Given the description of an element on the screen output the (x, y) to click on. 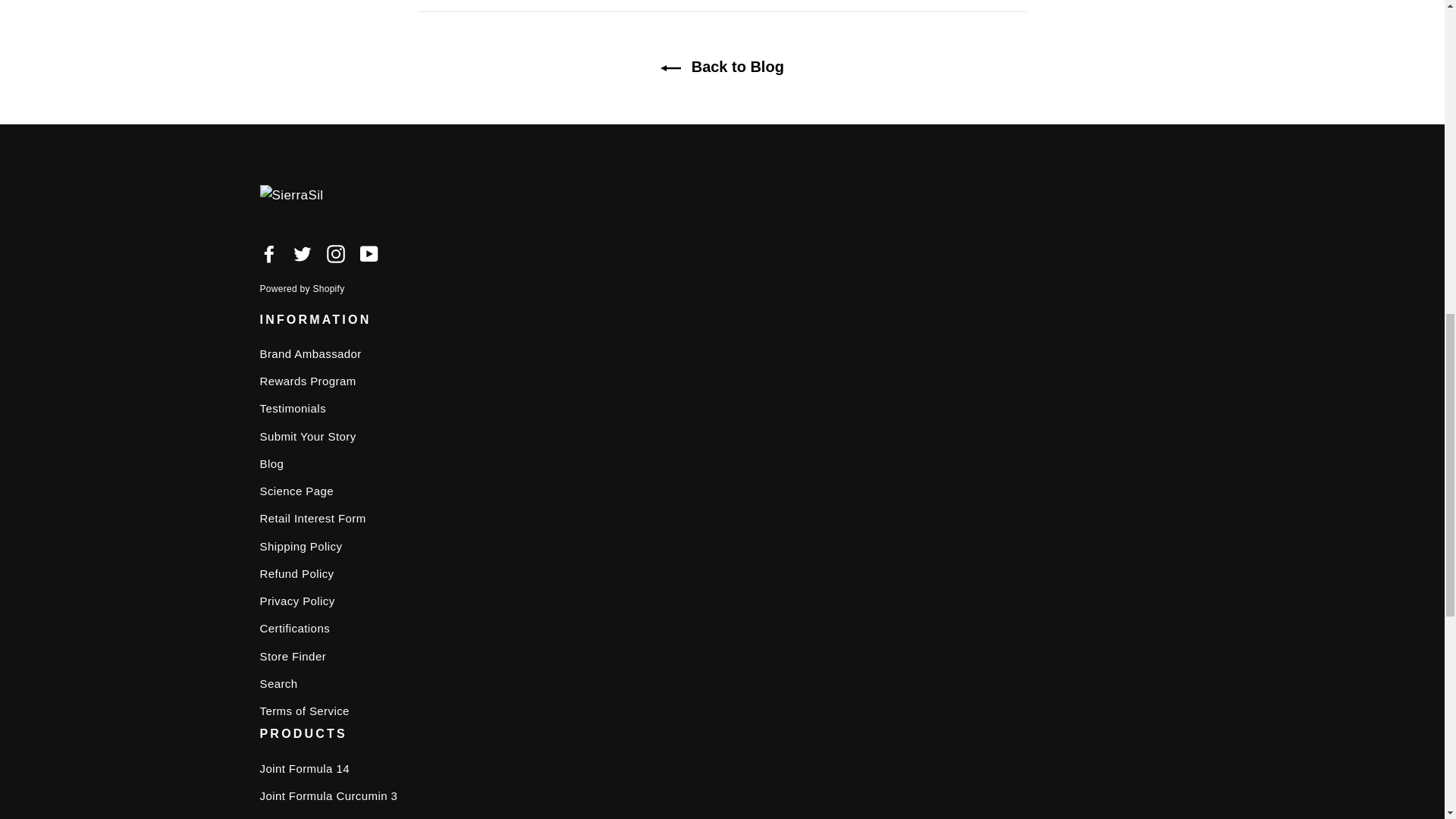
SierraSil on YouTube (368, 252)
SierraSil on Twitter (302, 252)
SierraSil on Instagram (335, 252)
